Given the description of an element on the screen output the (x, y) to click on. 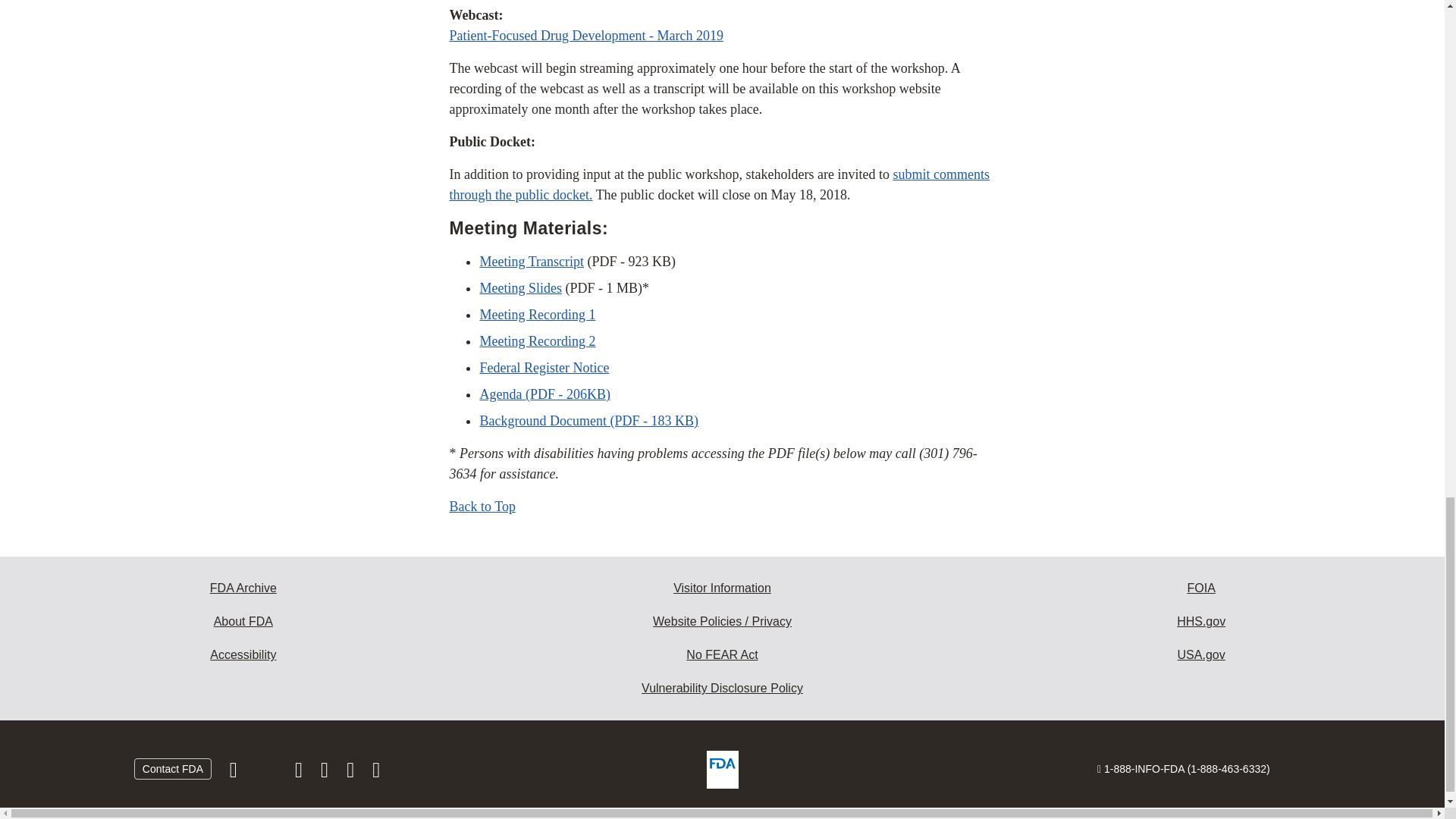
View FDA videos on YouTube (352, 773)
Follow FDA on Instagram (299, 773)
Follow FDA on X (266, 773)
Freedom of Information Act (1200, 588)
Follow FDA on LinkedIn (326, 773)
Subscribe to FDA RSS feeds (376, 773)
Health and Human Services (1200, 621)
Follow FDA on Facebook (234, 773)
